Given the description of an element on the screen output the (x, y) to click on. 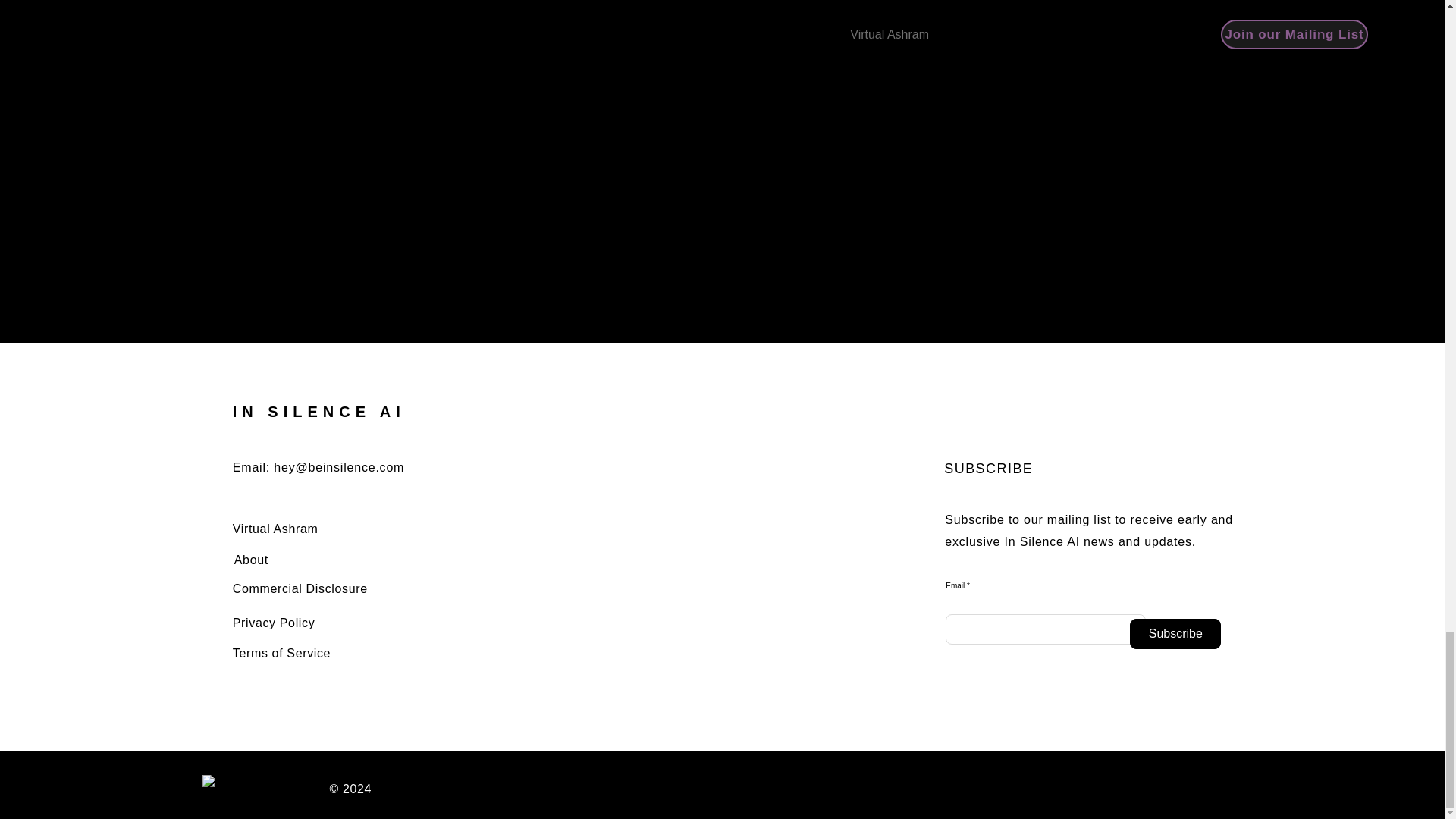
About (250, 559)
Subscribe (1175, 634)
Commercial Disclosure (300, 588)
IN SILENCE AI (319, 411)
Privacy Policy (273, 622)
2.png (274, 789)
Virtual Ashram (275, 528)
Terms of Service (281, 653)
